Given the description of an element on the screen output the (x, y) to click on. 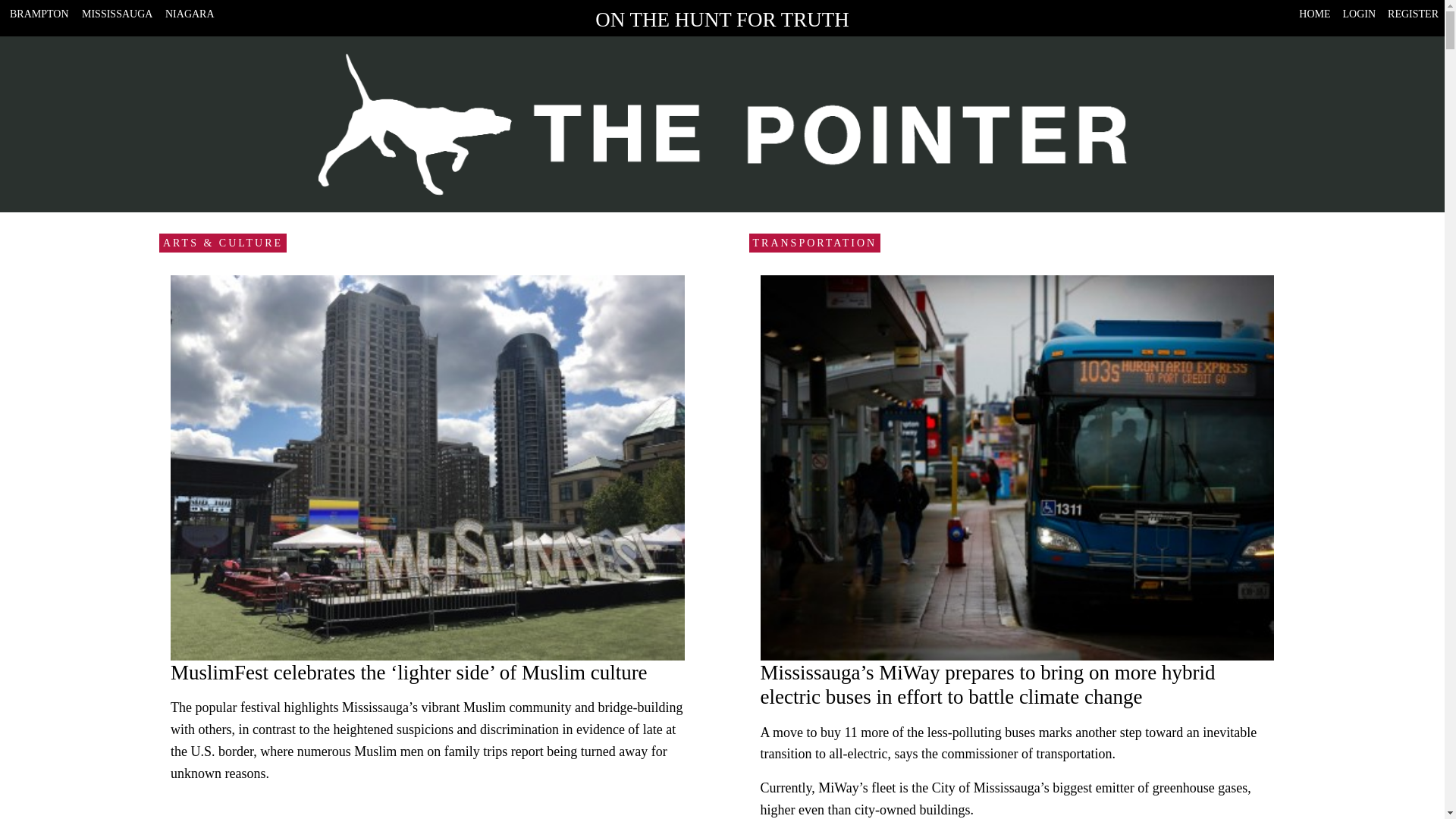
LOGIN (1358, 14)
NIAGARA (189, 14)
HOME (1314, 14)
MISSISSAUGA (116, 14)
BRAMPTON (39, 14)
